Given the description of an element on the screen output the (x, y) to click on. 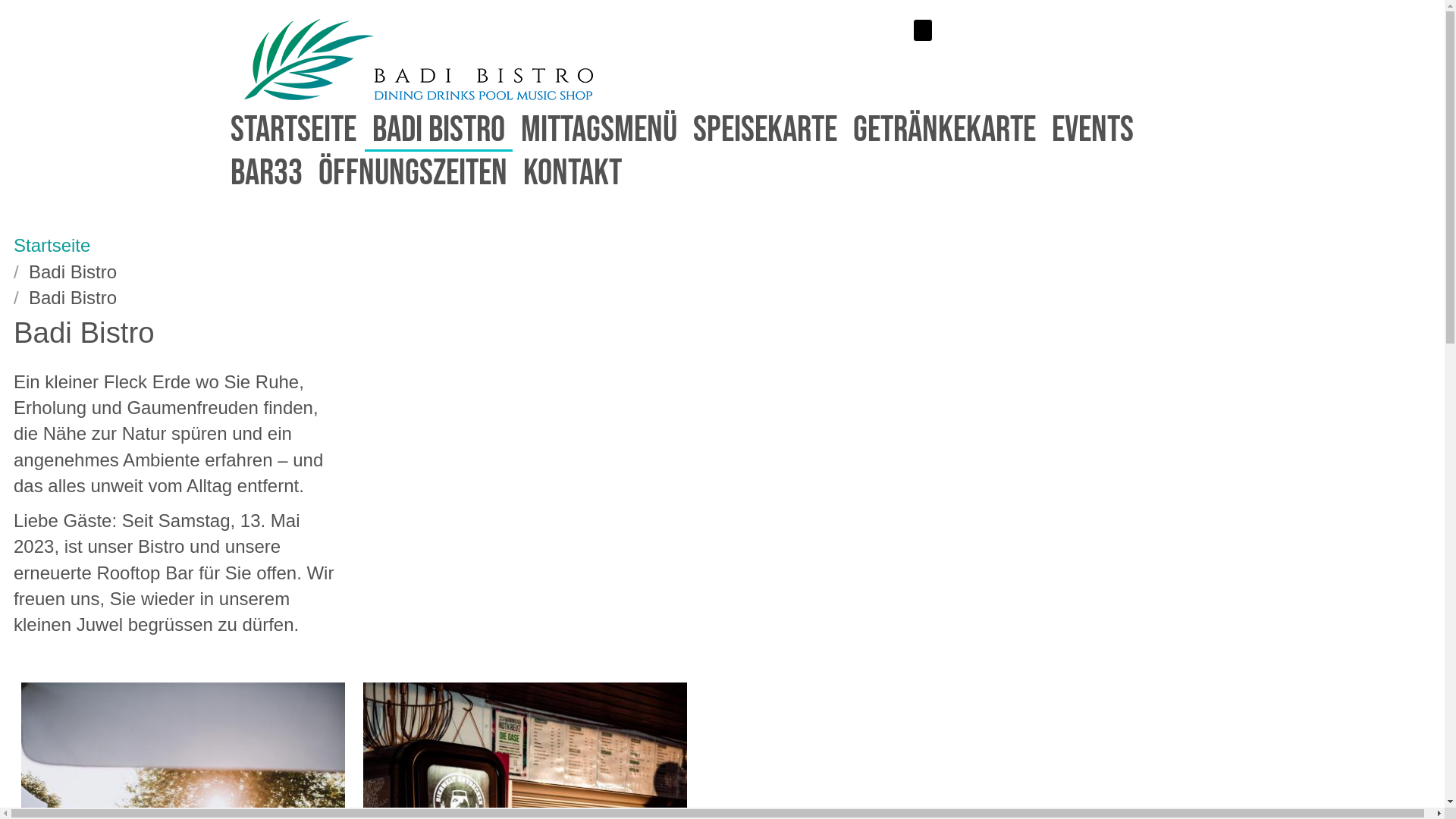
BADI BISTRO Element type: text (437, 129)
Direkt zum Inhalt Element type: text (6, 0)
BAR33 Element type: text (266, 172)
Startseite Element type: text (51, 245)
EVENTS Element type: text (1091, 129)
KONTAKT Element type: text (572, 172)
Navigation aktivieren/deaktivieren Element type: text (922, 29)
Startseite Element type: hover (418, 93)
STARTSEITE Element type: text (293, 129)
SPEISEKARTE Element type: text (764, 129)
